Given the description of an element on the screen output the (x, y) to click on. 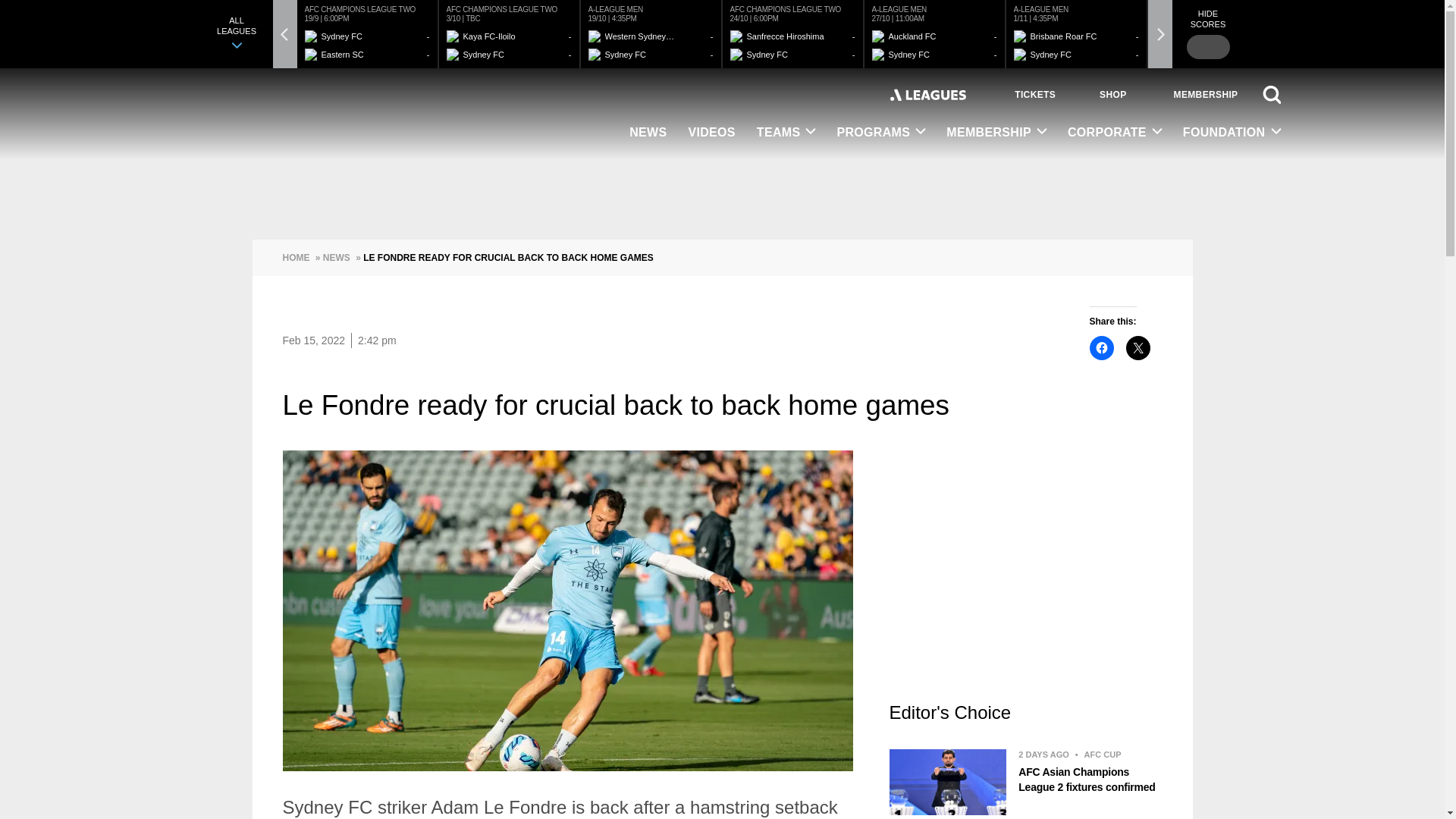
Click to share on Facebook (1101, 347)
NEWS (647, 133)
VIDEOS (711, 133)
Click to share on X (1137, 347)
TEAMS (786, 132)
